Given the description of an element on the screen output the (x, y) to click on. 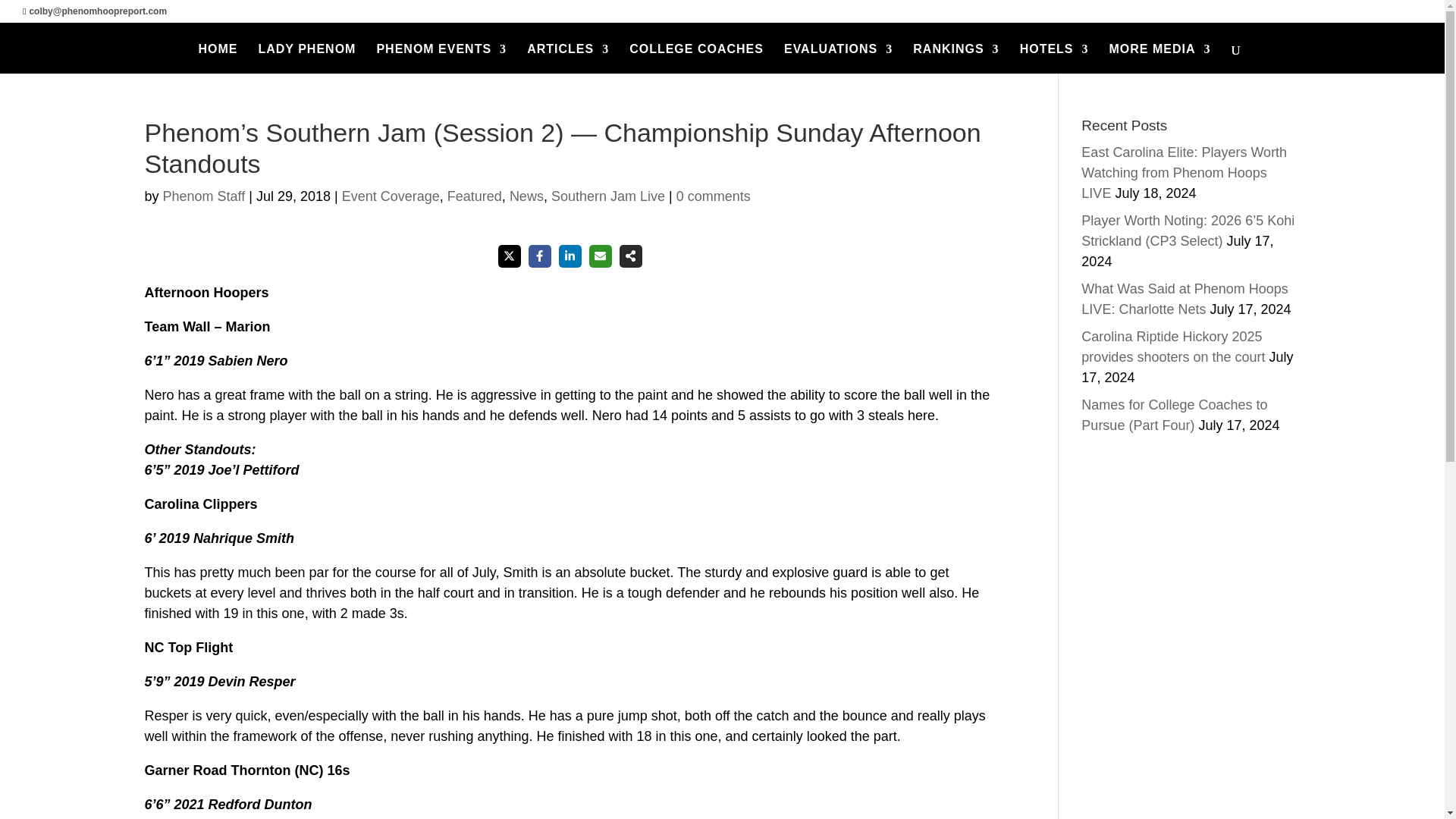
RANKINGS (955, 58)
EVALUATIONS (838, 58)
LADY PHENOM (306, 58)
HOME (217, 58)
ARTICLES (567, 58)
Posts by Phenom Staff (204, 196)
COLLEGE COACHES (695, 58)
PHENOM EVENTS (440, 58)
